Given the description of an element on the screen output the (x, y) to click on. 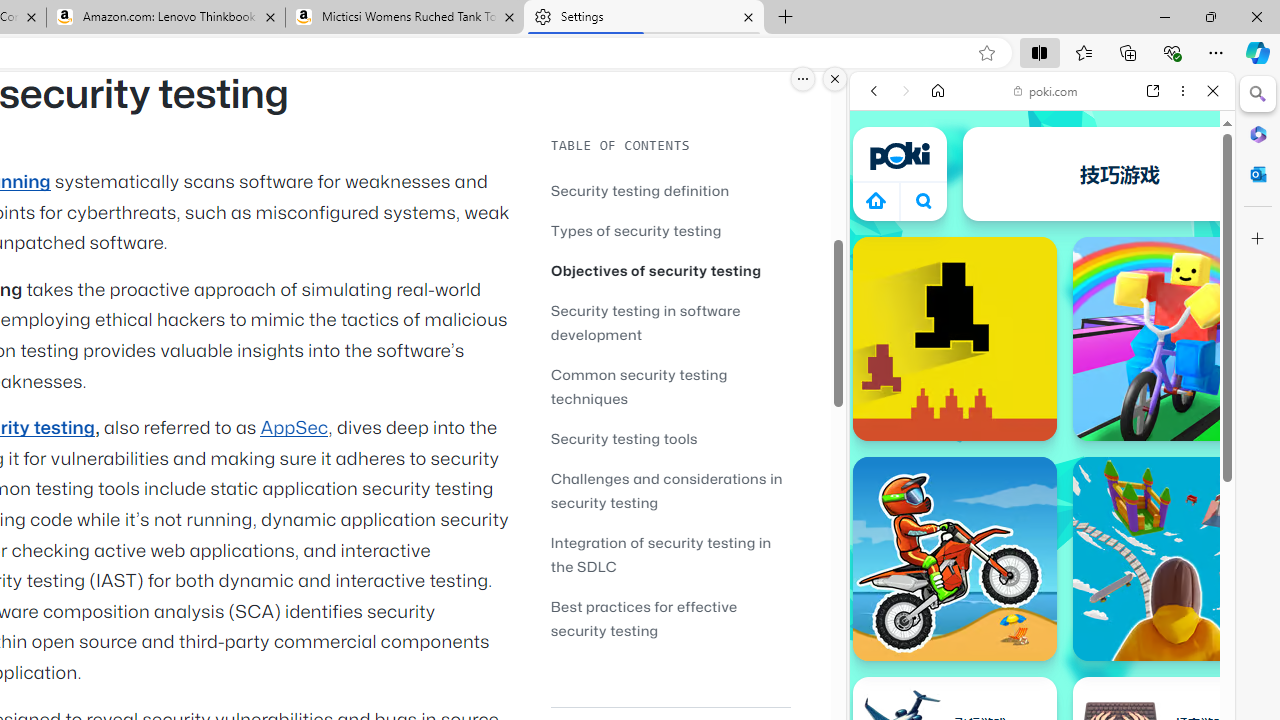
Security testing definition (639, 190)
Level Devil (954, 338)
Common security testing techniques (670, 386)
Poki (1034, 288)
Security testing definition (670, 190)
Objectives of security testing (670, 269)
Moto X3M (954, 558)
Show More Shooting Games (1164, 521)
